Given the description of an element on the screen output the (x, y) to click on. 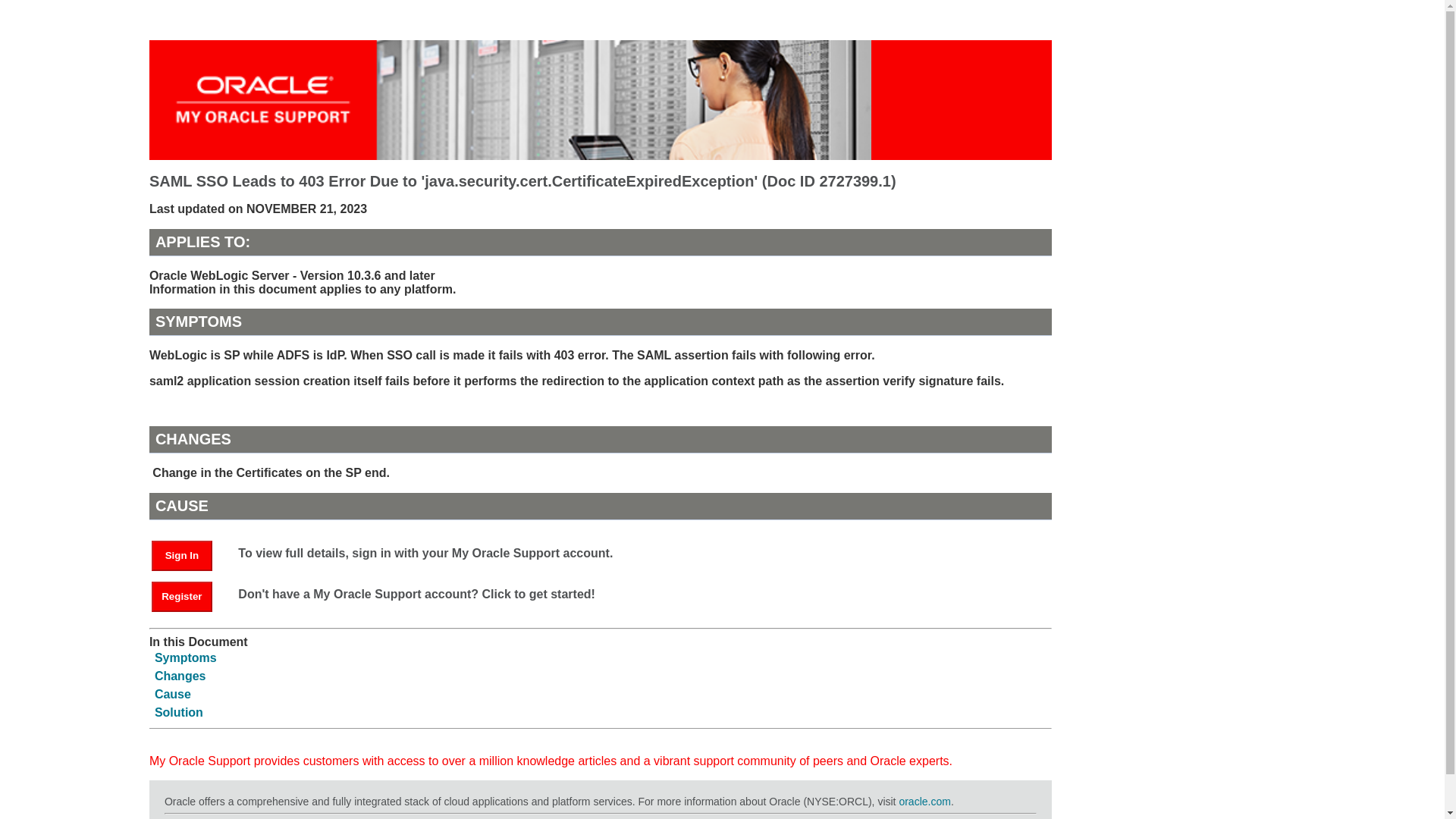
oracle.com (924, 801)
Register (189, 594)
Cause (172, 694)
Changes (180, 675)
Sign In (189, 554)
Sign In (181, 555)
Symptoms (185, 657)
Register (181, 596)
oracle.com (924, 801)
Solution (178, 712)
